Given the description of an element on the screen output the (x, y) to click on. 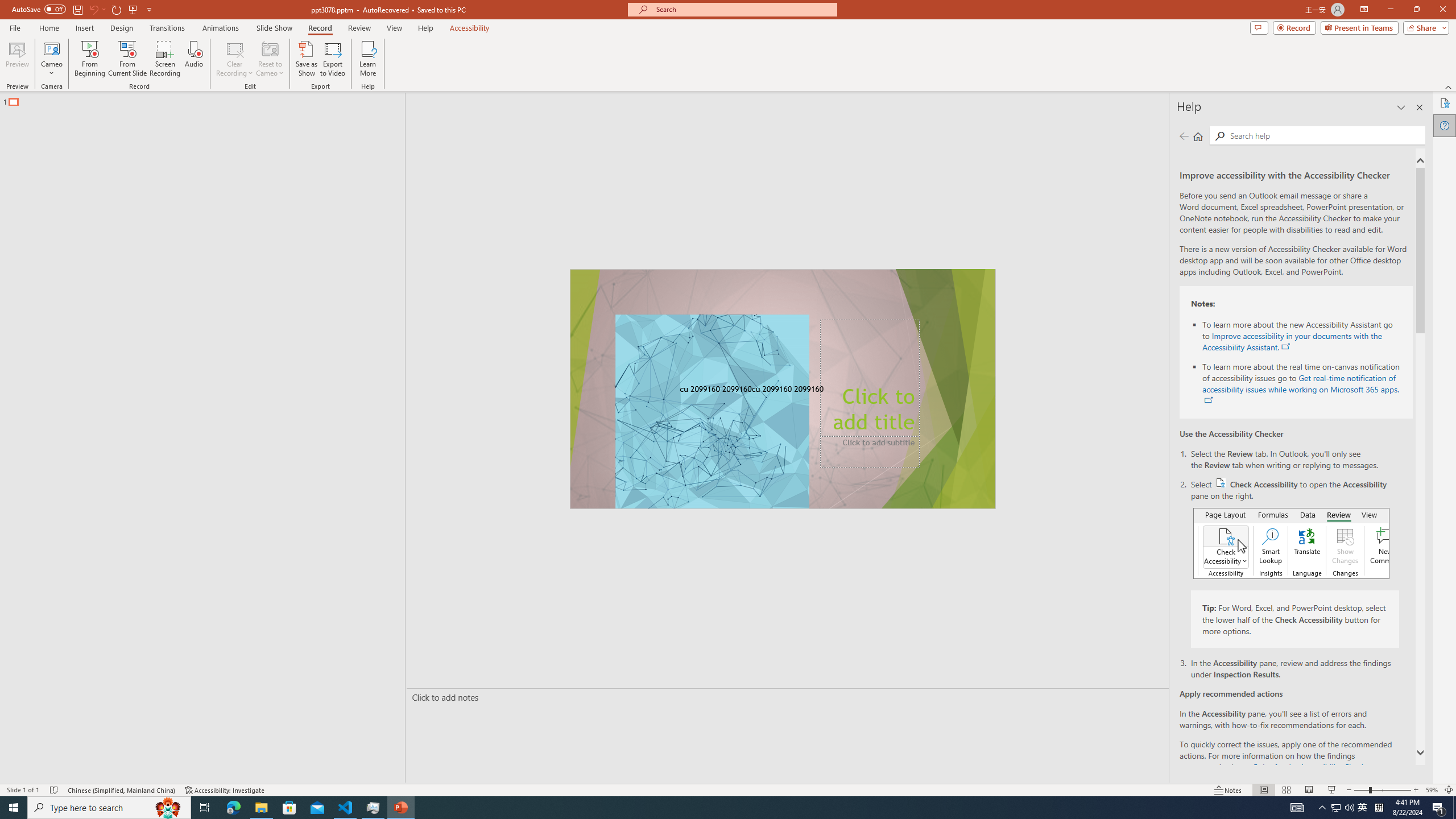
SJTUvpn (98, 254)
2301.12597v3.pdf (1405, 178)
edit (1405, 481)
UGround_paper.pdf (686, 26)
2401.17399v1.pdf (1340, 26)
VMware Workstation Pro (32, 563)
